Given the description of an element on the screen output the (x, y) to click on. 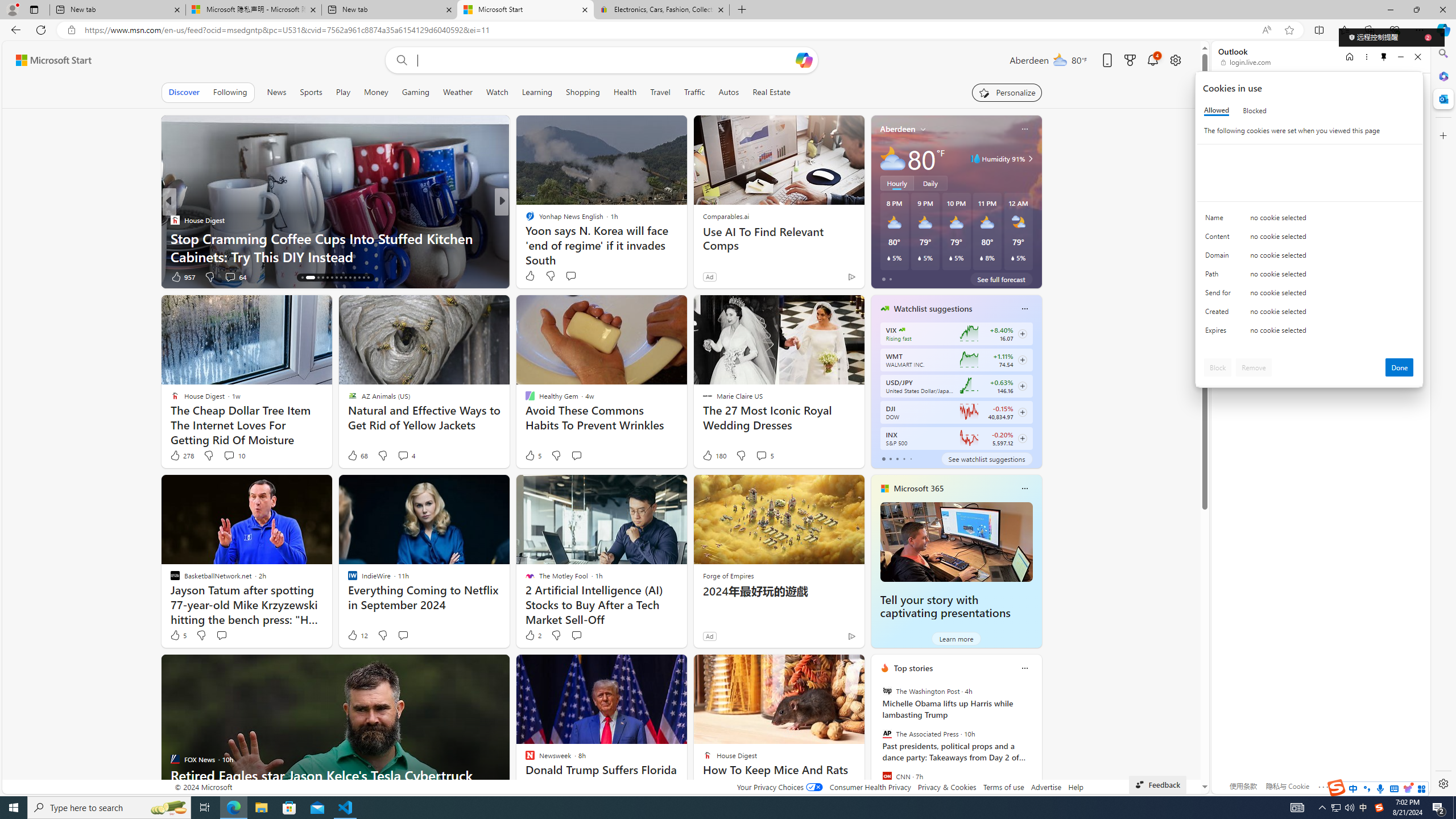
326 Like (532, 276)
Aberdeen (897, 128)
AutomationID: tab-22 (340, 277)
15 Most Dangerous (and Deadliest) Mammals in the World (684, 247)
